Given the description of an element on the screen output the (x, y) to click on. 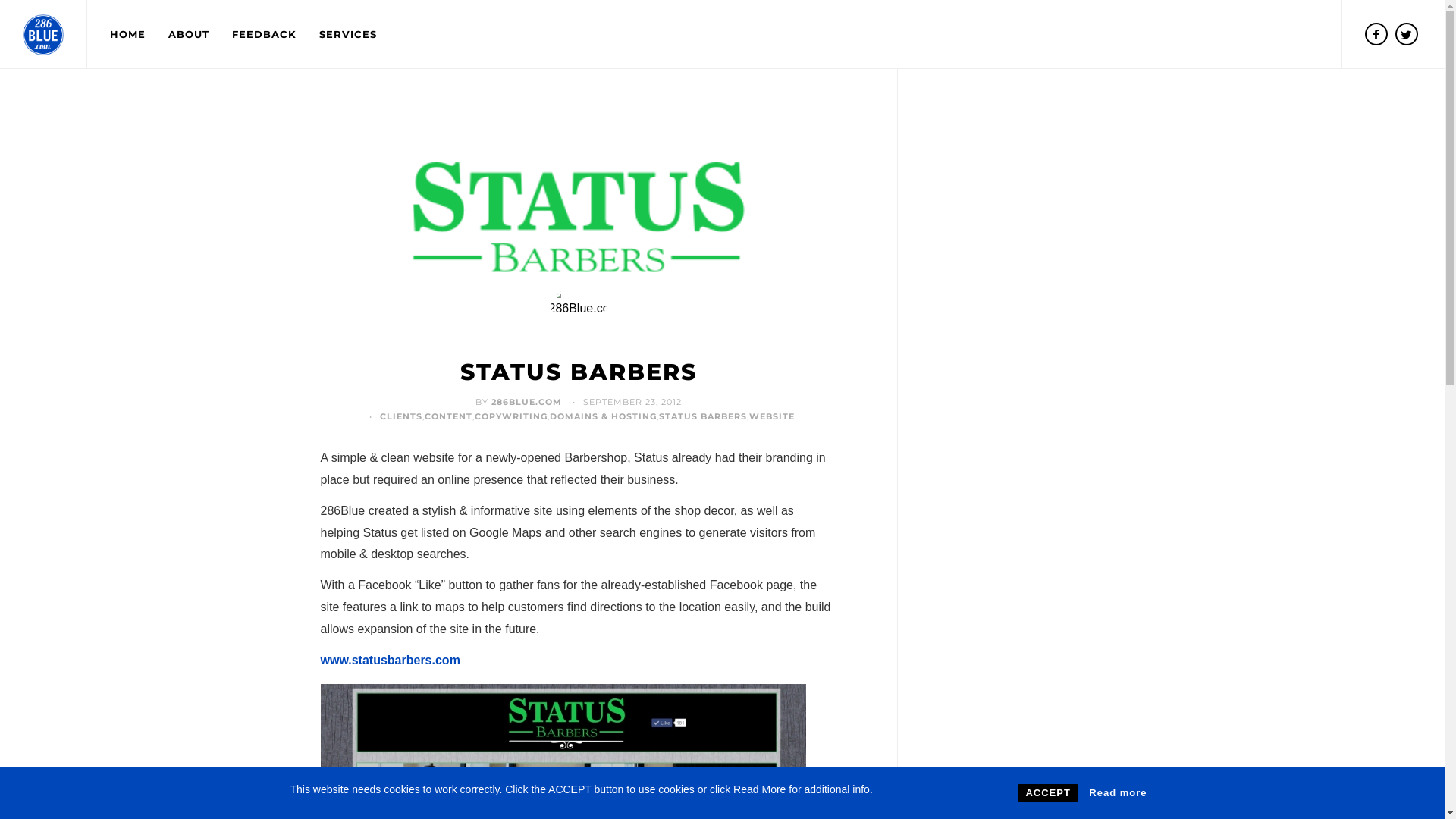
286BLUE.COM Element type: text (526, 401)
ABOUT Element type: text (188, 33)
FEEDBACK Element type: text (263, 33)
HOME Element type: text (127, 33)
ACCEPT Element type: text (1047, 792)
Read more Element type: text (1117, 792)
CONTENT Element type: text (448, 416)
DOMAINS & HOSTING Element type: text (602, 416)
www.statusbarbers.com Element type: text (389, 659)
CLIENTS Element type: text (400, 416)
WEBSITE Element type: text (771, 416)
STATUS BARBERS Element type: text (702, 416)
SERVICES Element type: text (347, 33)
STATUS BARBERS Element type: text (577, 371)
COPYWRITING Element type: text (510, 416)
